Given the description of an element on the screen output the (x, y) to click on. 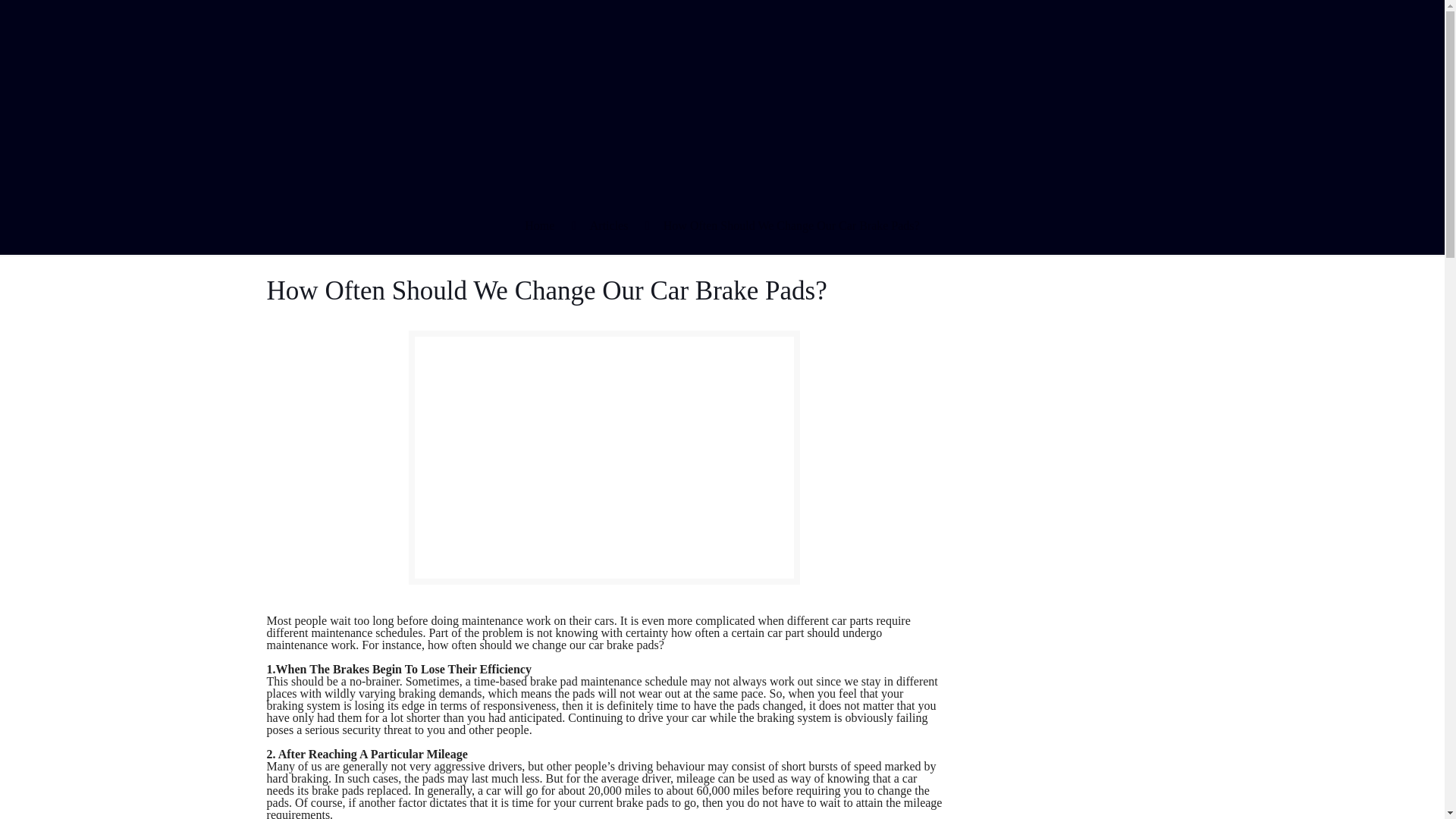
Home (539, 225)
How Often Should We Change Our Car Brake Pads? (791, 225)
Articles (608, 225)
